Given the description of an element on the screen output the (x, y) to click on. 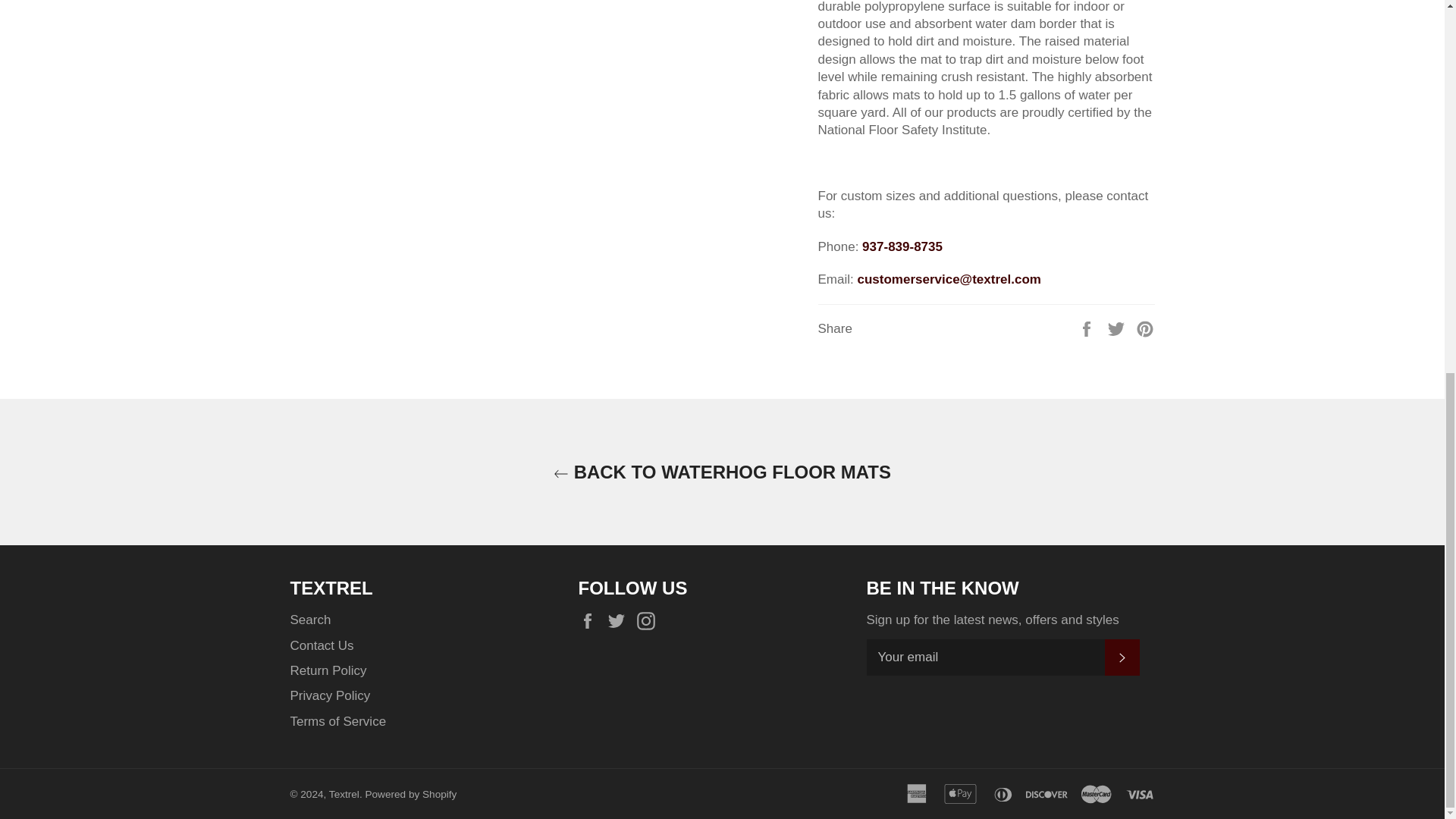
Textrel on Twitter (620, 619)
Tweet on Twitter (1117, 328)
Textrel on Instagram (649, 619)
Share on Facebook (1088, 328)
Pin on Pinterest (1144, 328)
Textrel on Facebook (591, 619)
